Given the description of an element on the screen output the (x, y) to click on. 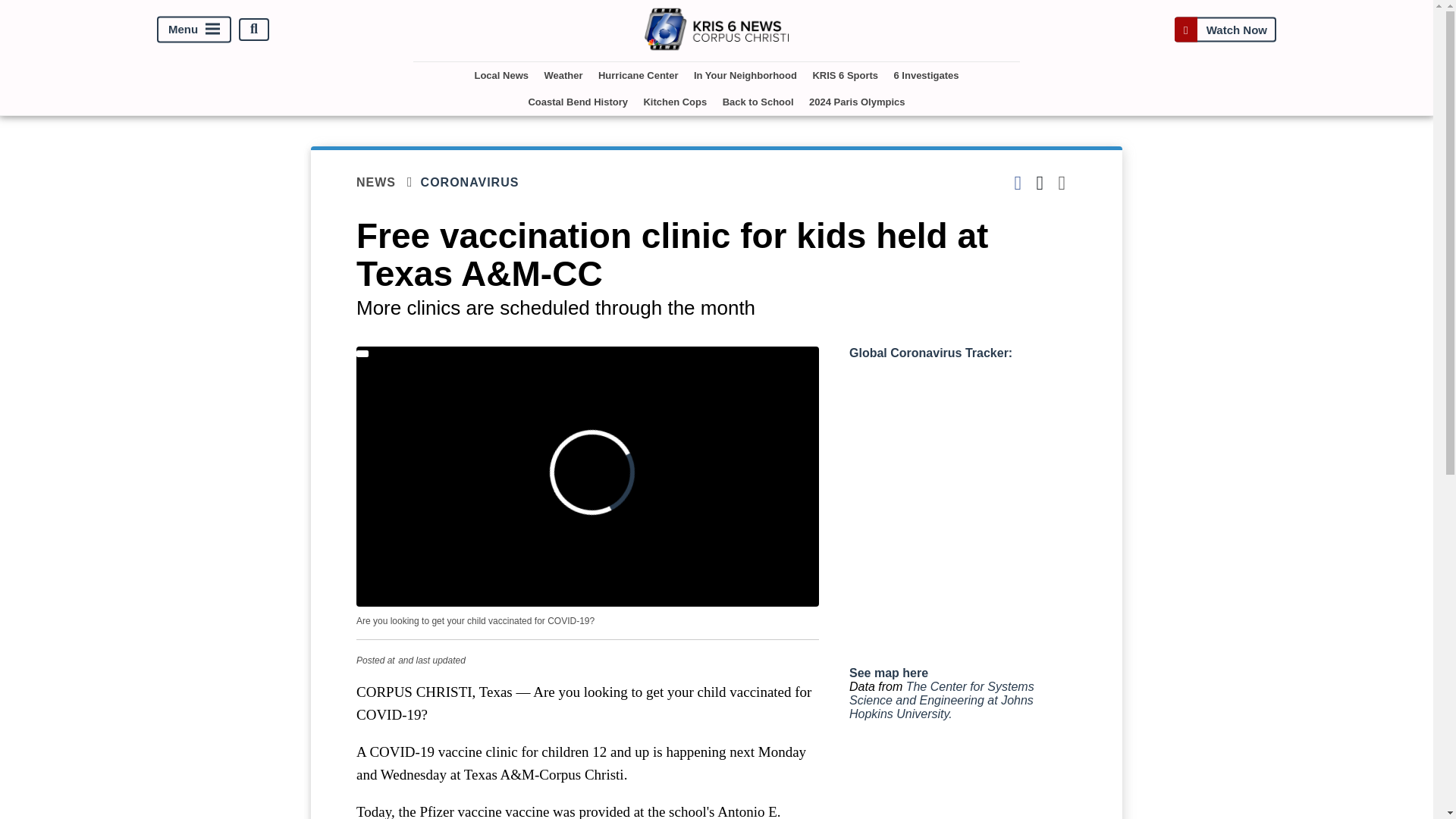
Menu (194, 28)
Watch Now (1224, 29)
